Given the description of an element on the screen output the (x, y) to click on. 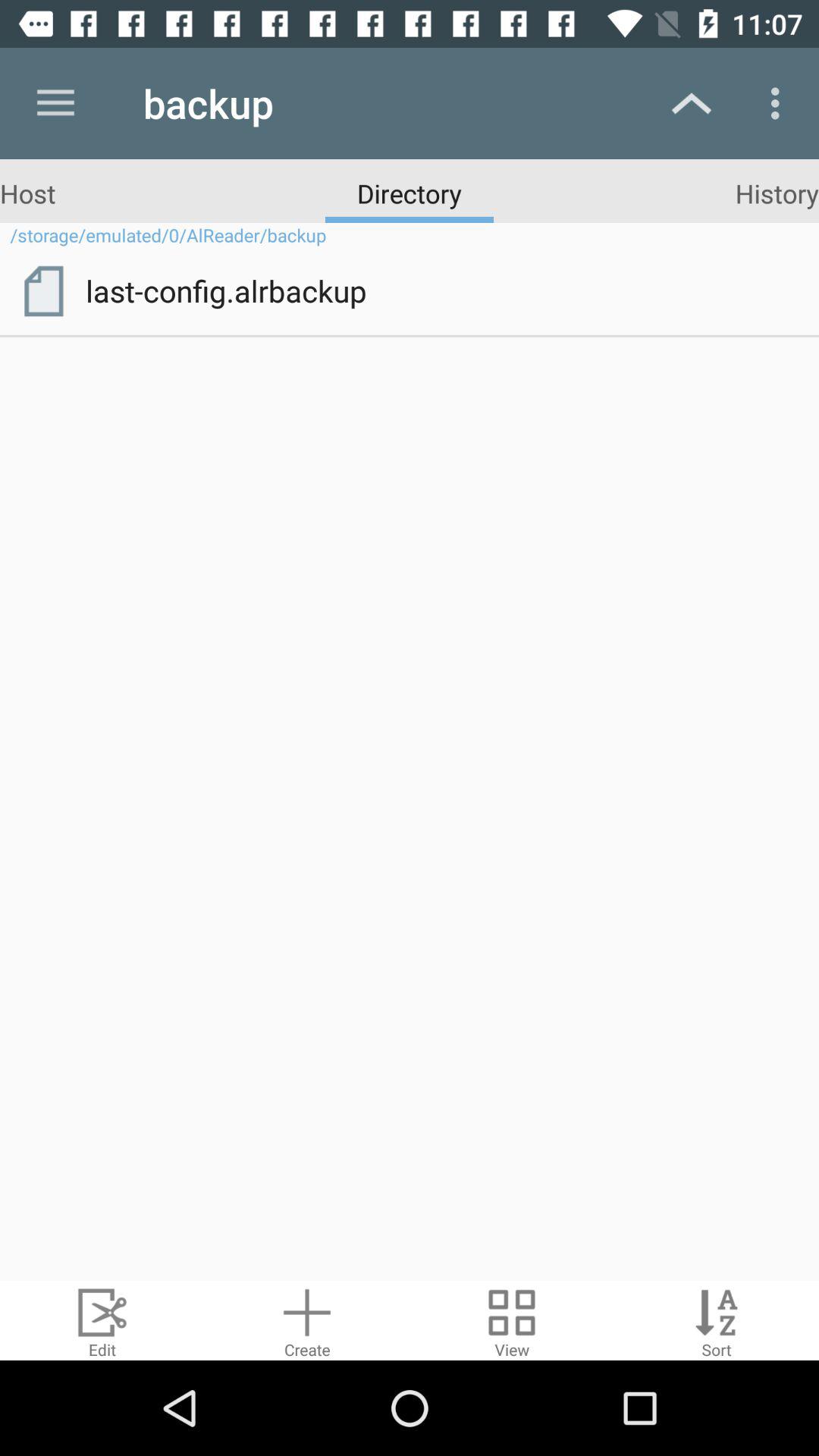
flip until history (777, 193)
